Given the description of an element on the screen output the (x, y) to click on. 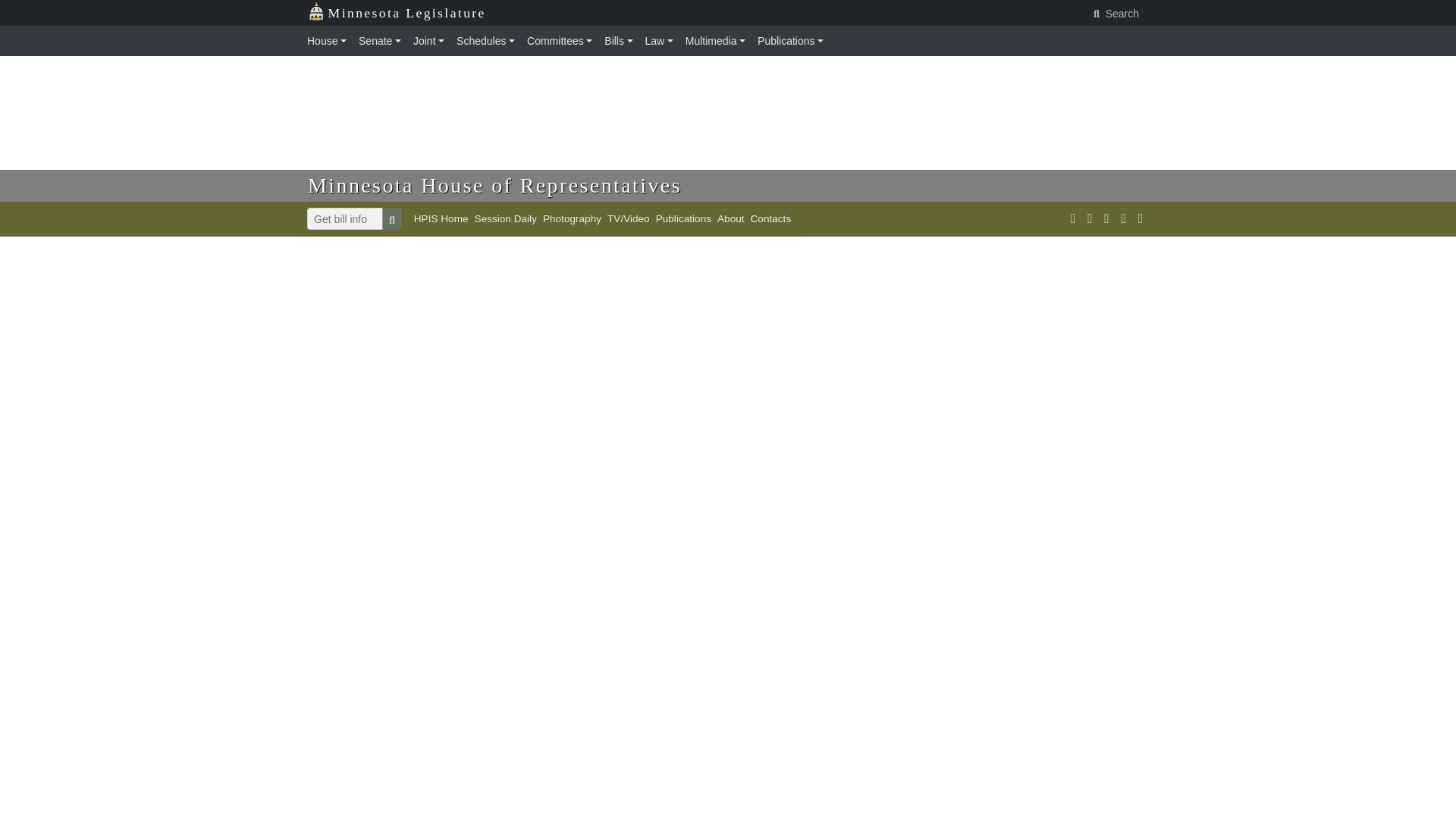
Minnesota Legislature (396, 12)
Senate (379, 40)
House (329, 40)
Search (1117, 13)
